Given the description of an element on the screen output the (x, y) to click on. 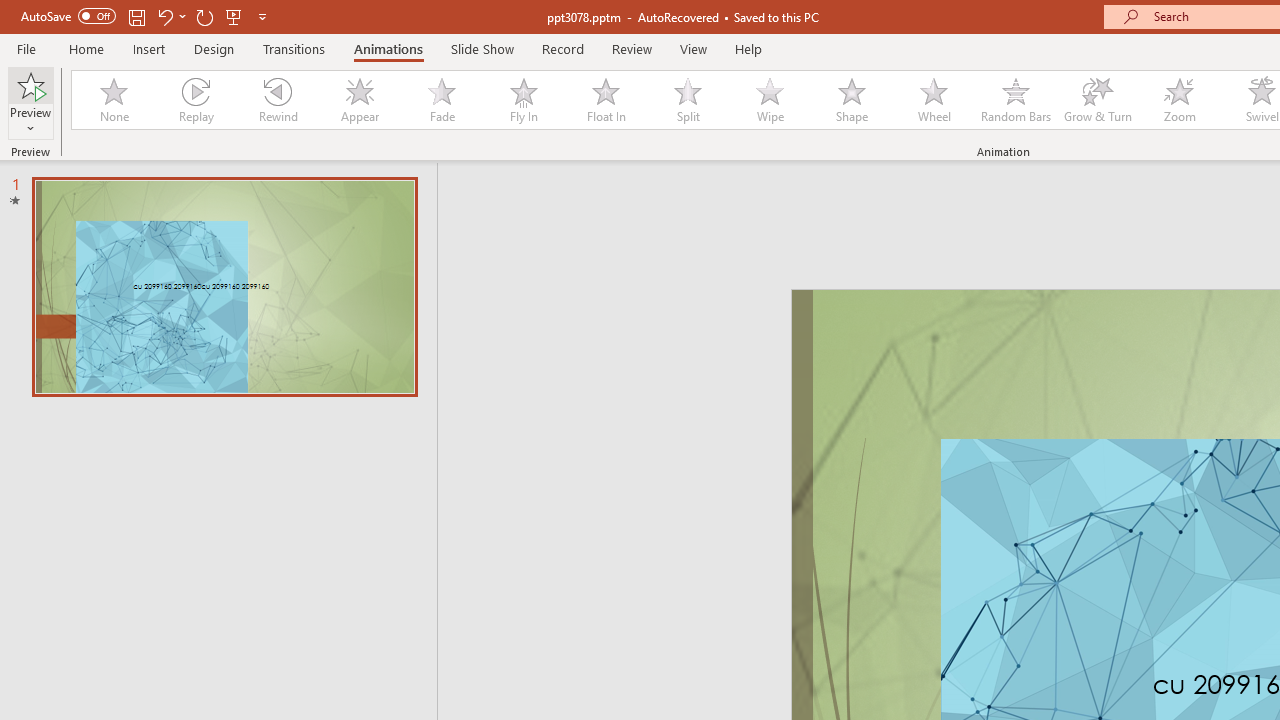
Wipe (770, 100)
Appear (359, 100)
Fade (441, 100)
Float In (605, 100)
